Given the description of an element on the screen output the (x, y) to click on. 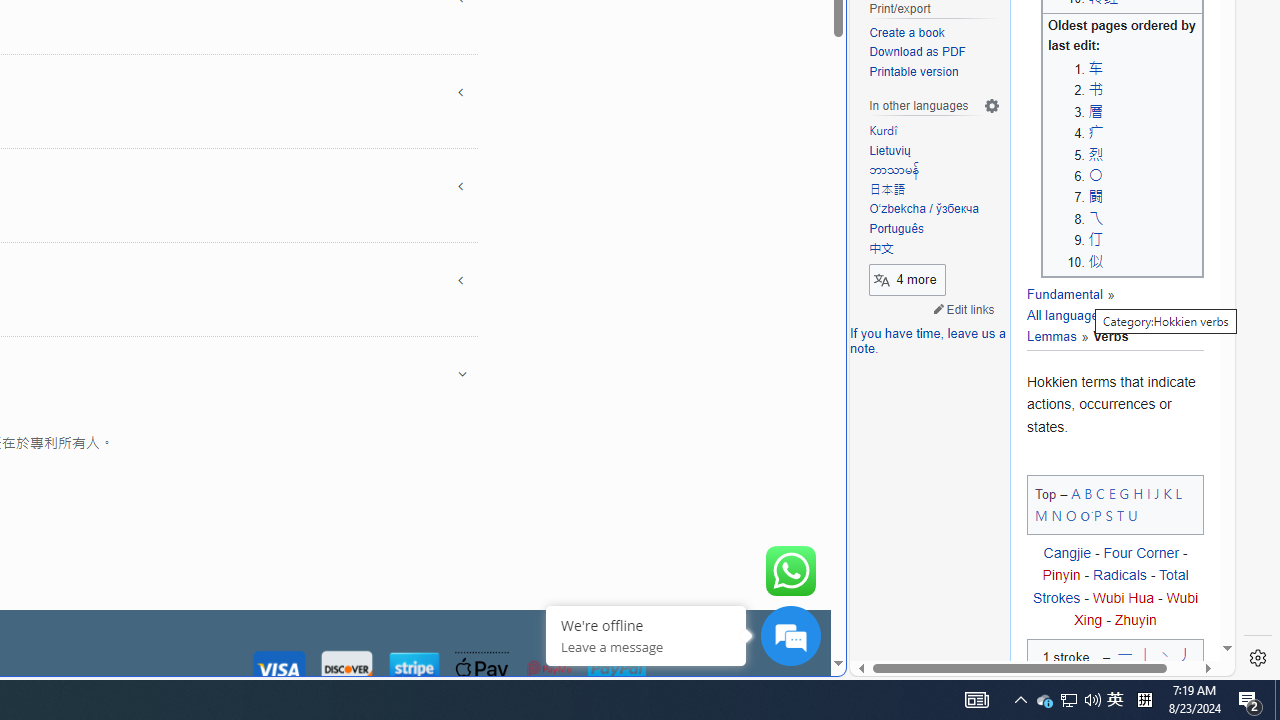
Cangjie (1066, 553)
T (1120, 515)
Hokkien (1136, 316)
All languages (1071, 305)
Lemmas (1103, 326)
I (1147, 492)
N (1056, 515)
